Given the description of an element on the screen output the (x, y) to click on. 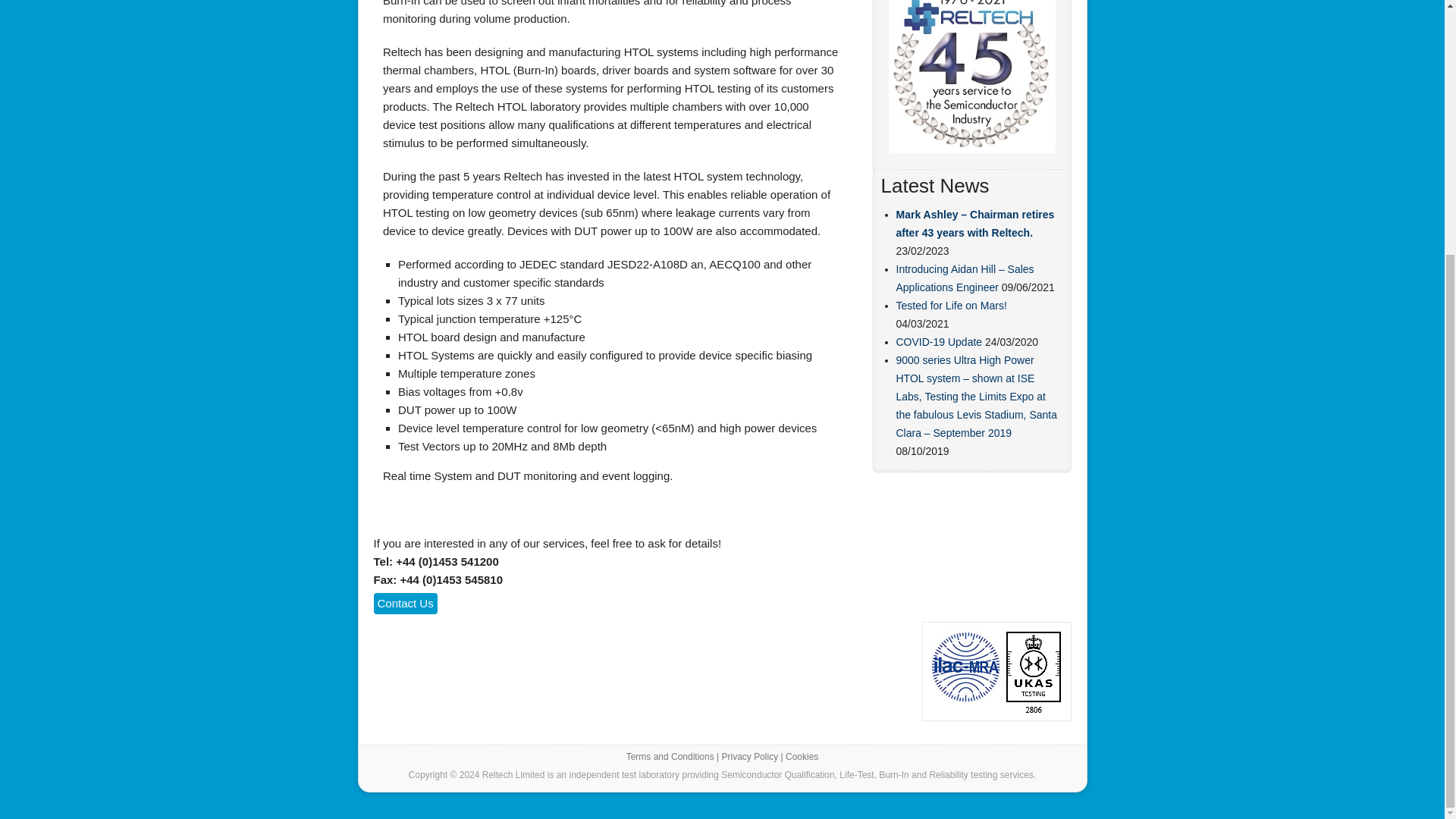
COVID-19 Update (939, 341)
Contact Us (404, 603)
Tested for Life on Mars! (951, 305)
Cookies (802, 756)
